Given the description of an element on the screen output the (x, y) to click on. 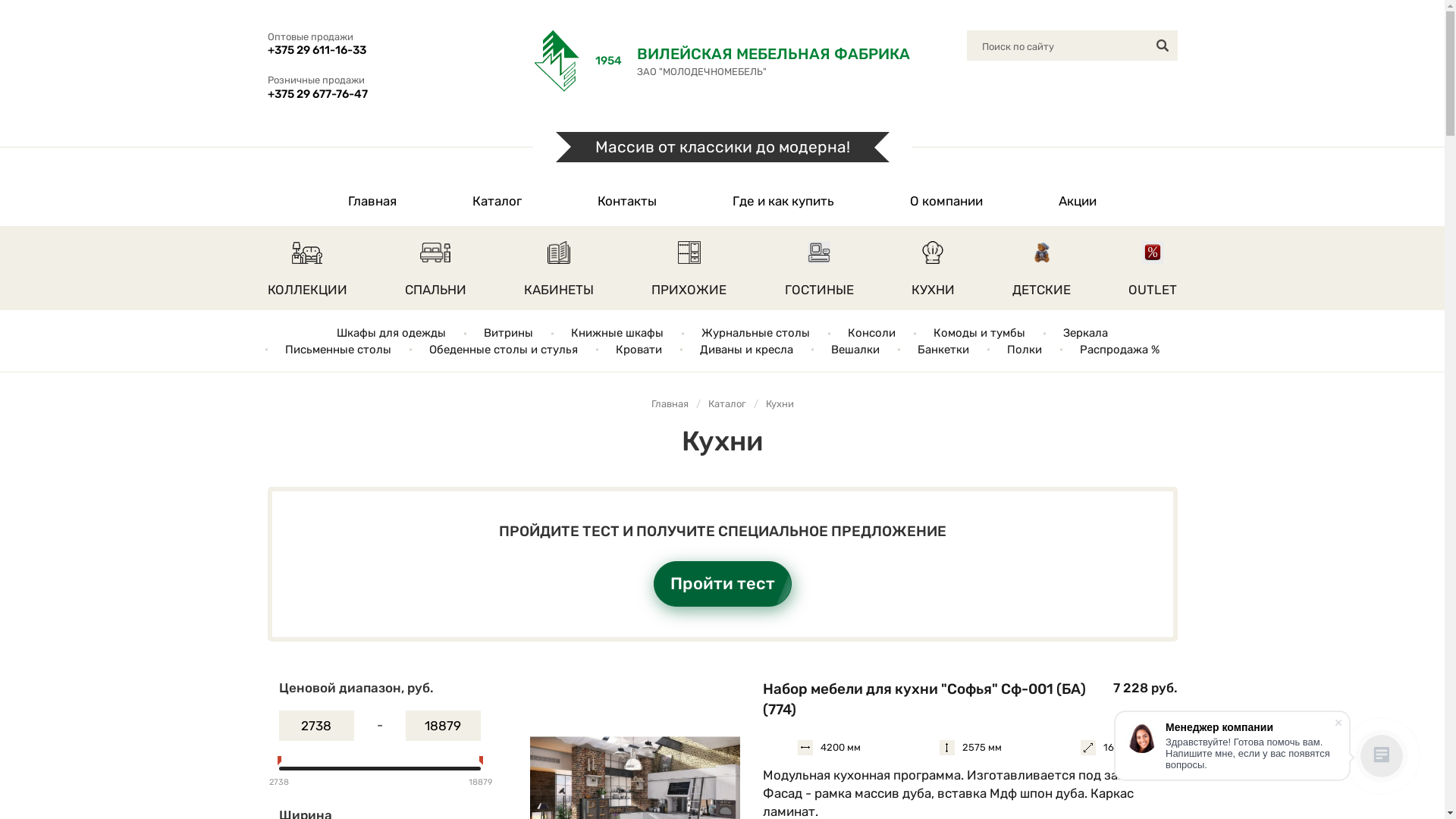
OUTLET Element type: text (1152, 267)
+375 29 611-16-33 Element type: text (371, 50)
+375 29 677-76-47 Element type: text (371, 93)
